Given the description of an element on the screen output the (x, y) to click on. 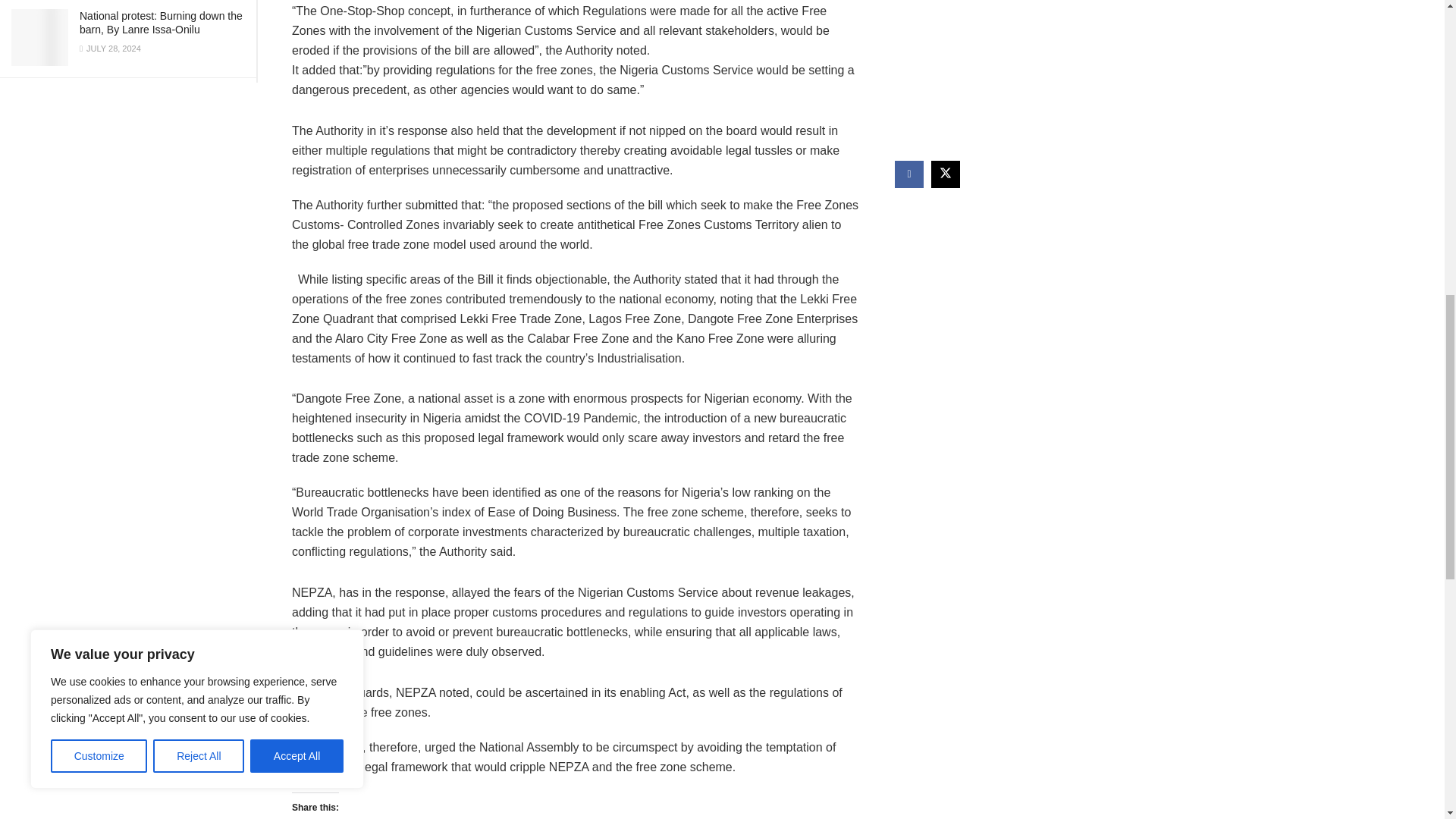
Advertisement (1025, 65)
National protest: Burning down the barn, By Lanre Issa-Onilu (161, 22)
